Given the description of an element on the screen output the (x, y) to click on. 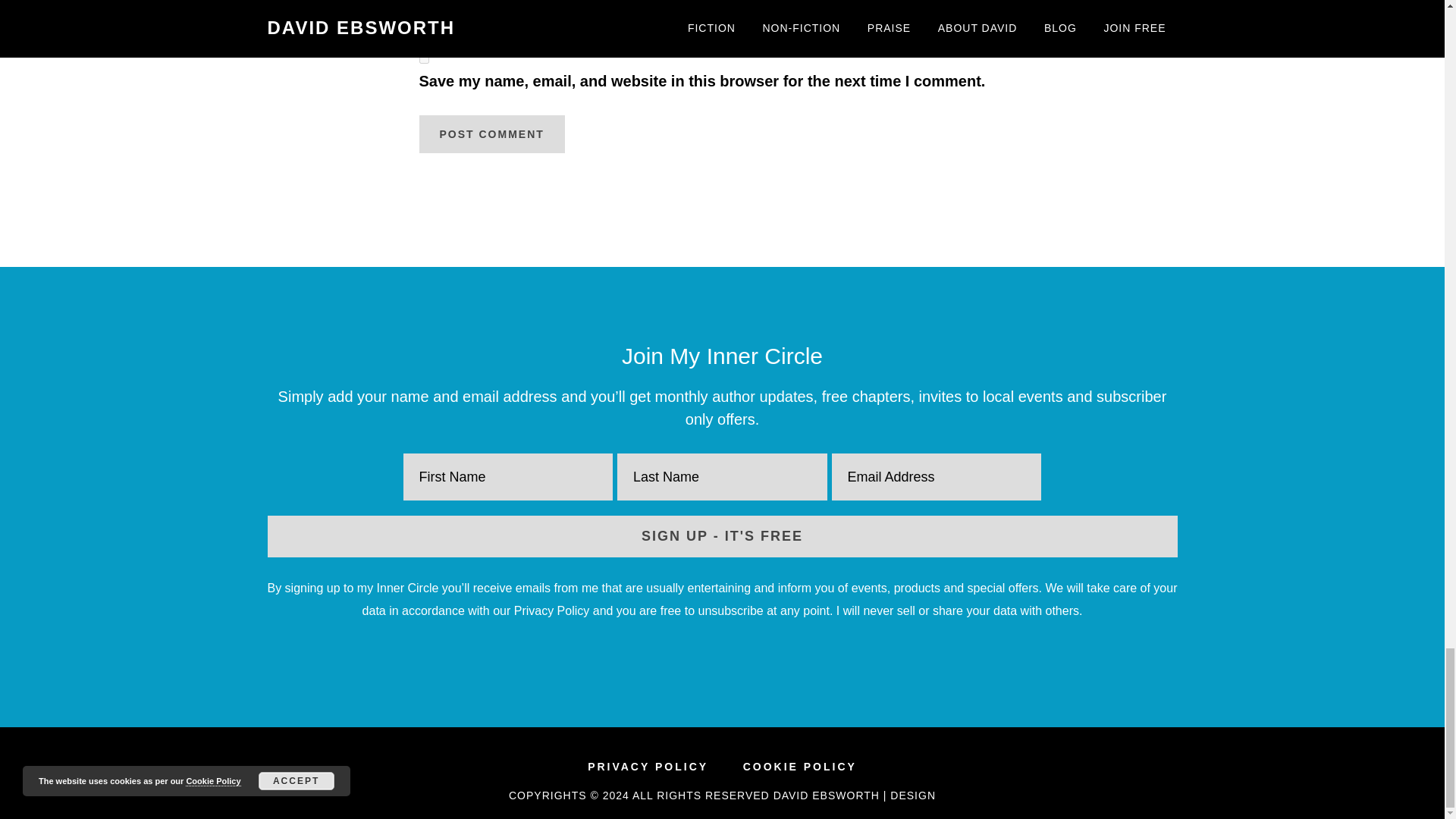
Sign Up - It's Free (721, 536)
Post Comment (491, 134)
yes (423, 58)
Privacy Policy (551, 610)
